Given the description of an element on the screen output the (x, y) to click on. 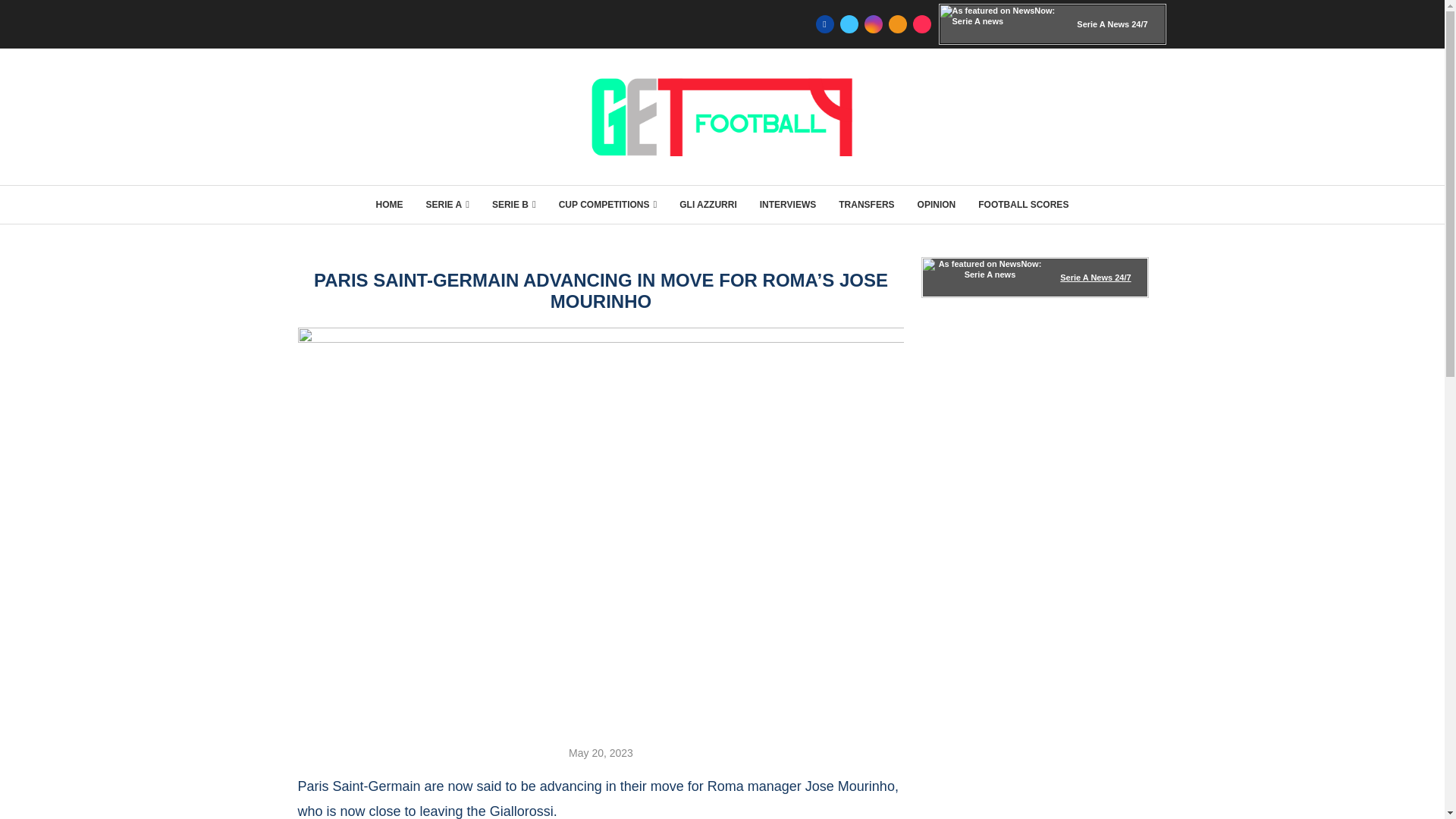
HOME (389, 204)
SERIE B (513, 204)
SERIE A (447, 204)
Click here for more Italian football news from NewsNow (1052, 24)
Click here for more Italian football news from NewsNow (1034, 277)
